Given the description of an element on the screen output the (x, y) to click on. 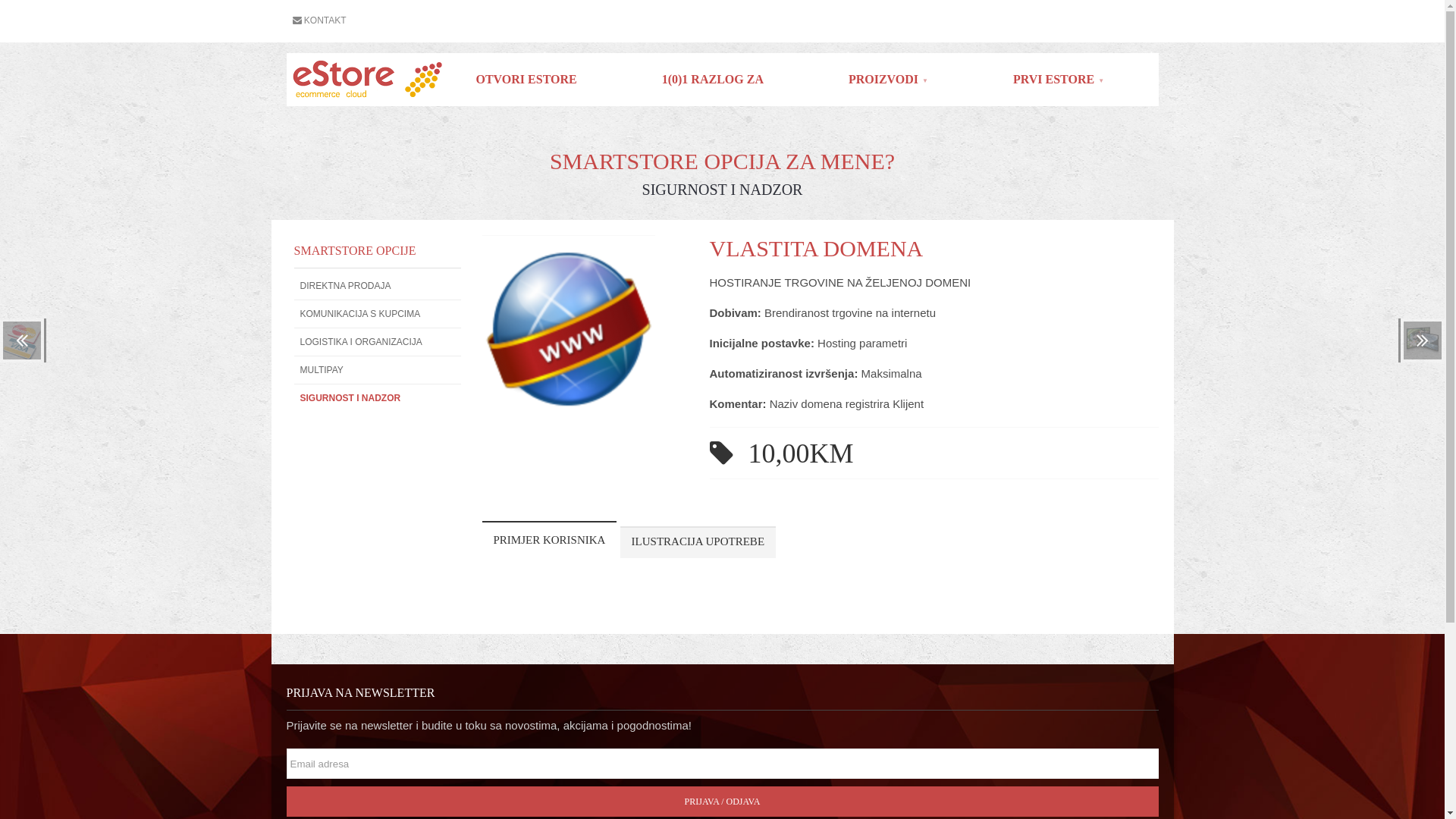
KOMUNIKACIJA S KUPCIMA Element type: text (377, 313)
Email adresa Element type: text (726, 763)
LOGISTIKA I ORGANIZACIJA Element type: text (377, 341)
KONTAKT Element type: text (319, 20)
Vlastita domena Element type: hover (568, 329)
PRVI ESTORE Element type: text (1058, 80)
ILUSTRACIJA UPOTREBE Element type: text (697, 542)
SIGURNOST I NADZOR Element type: text (377, 397)
DIREKTNA PRODAJA Element type: text (377, 285)
MULTIPAY Element type: text (377, 369)
SMARTSTORE OPCIJE Element type: text (355, 250)
Vlastita domena Element type: hover (568, 411)
eStore Element type: hover (365, 81)
PRIMJER KORISNIKA Element type: text (549, 539)
OTVORI ESTORE Element type: text (526, 79)
PROIZVODI Element type: text (887, 80)
PRIJAVA / ODJAVA Element type: text (722, 801)
1(0)1 RAZLOG ZA Element type: text (712, 79)
